Given the description of an element on the screen output the (x, y) to click on. 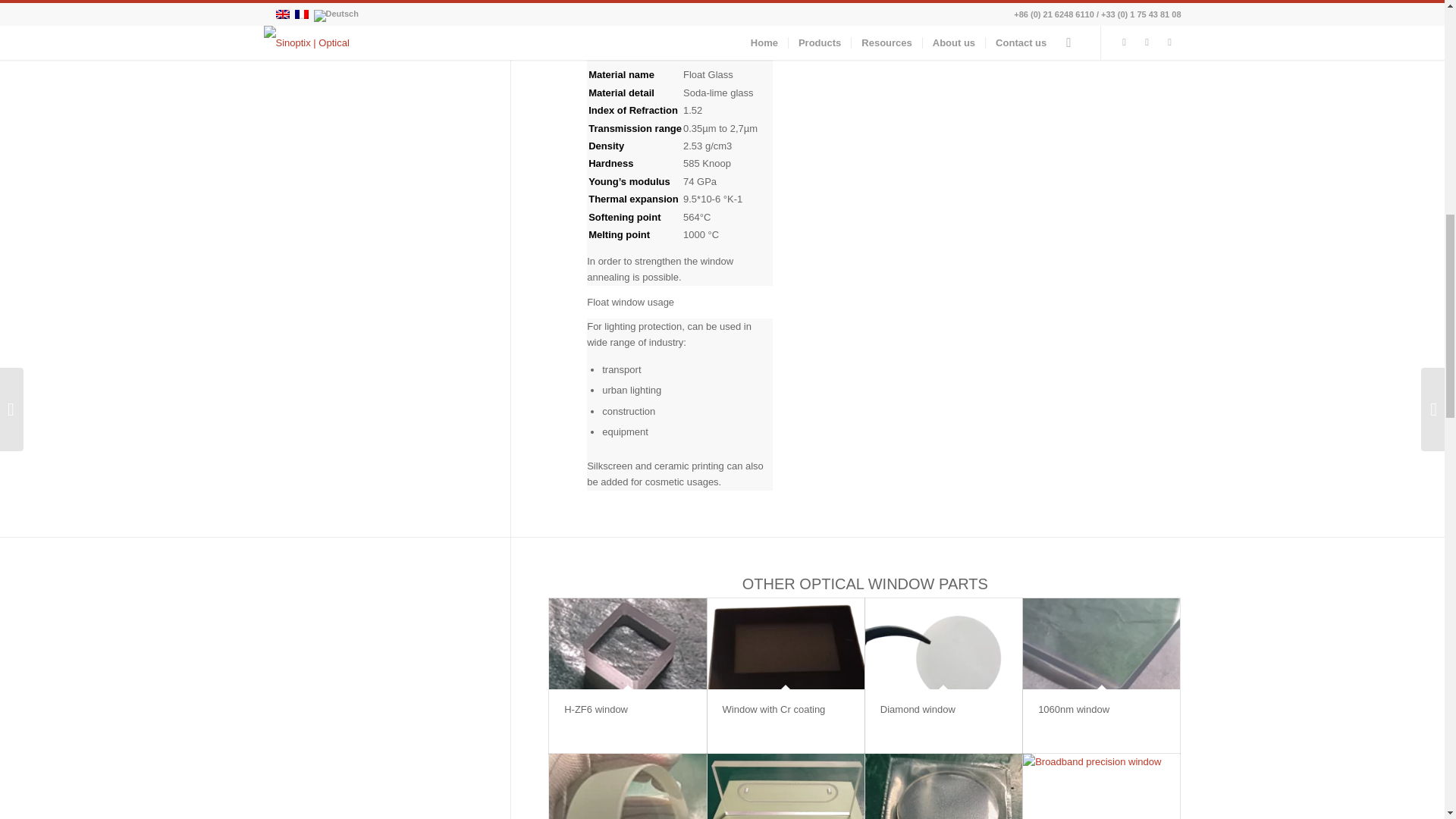
Diamond window (917, 708)
Window with Cr coating (773, 708)
H-ZF6 window (595, 708)
1060nm window (1101, 643)
H-ZF6 window (627, 643)
Diamond window (943, 643)
Window with Cr coating (785, 643)
